Given the description of an element on the screen output the (x, y) to click on. 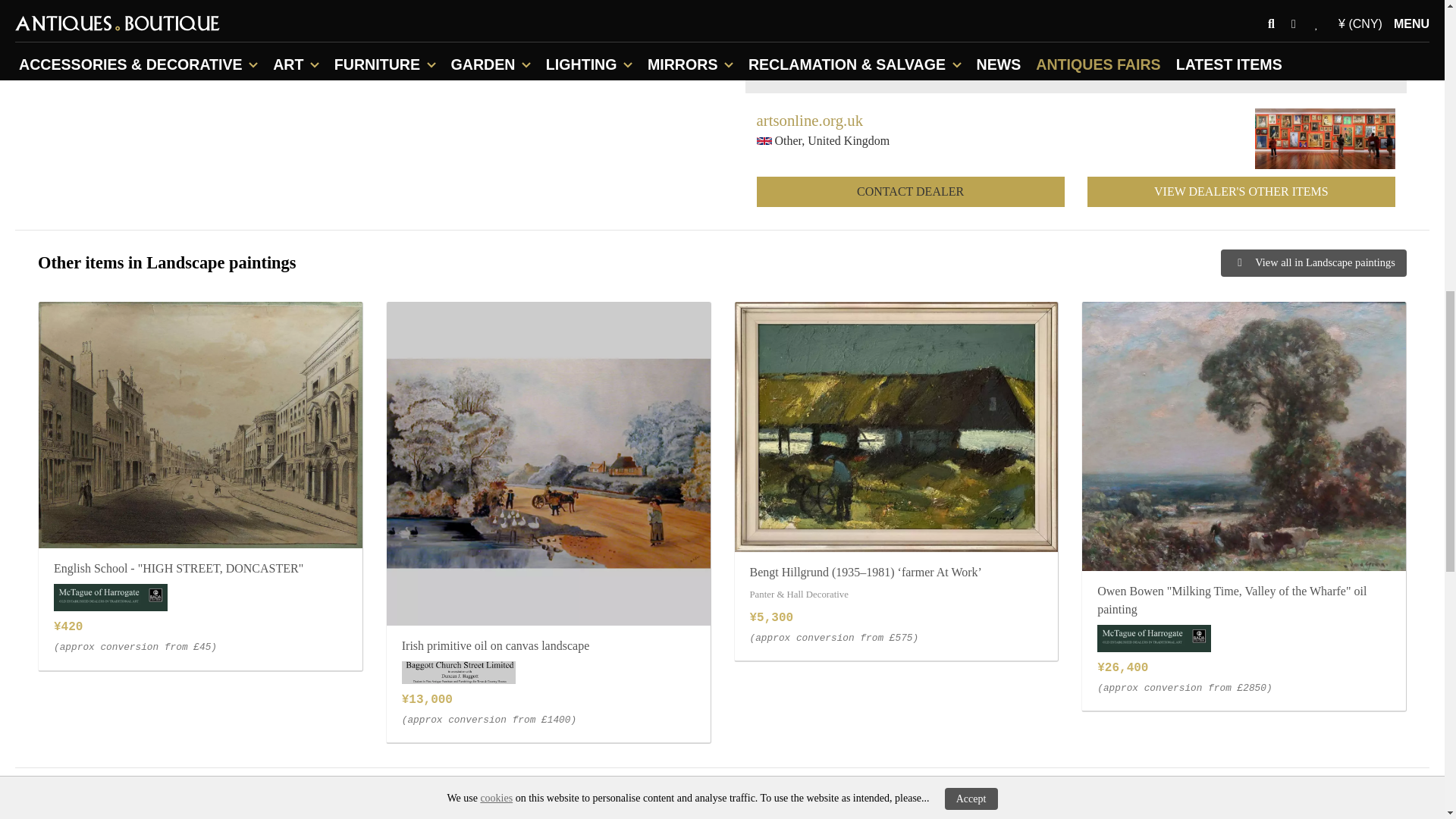
English School - "HIGH STREET, DONCASTER" (200, 424)
Irish primitive oil on canvas landscape (548, 463)
Owen Bowen "Milking Time, Valley of the Wharfe" oil painting (1243, 436)
